Given the description of an element on the screen output the (x, y) to click on. 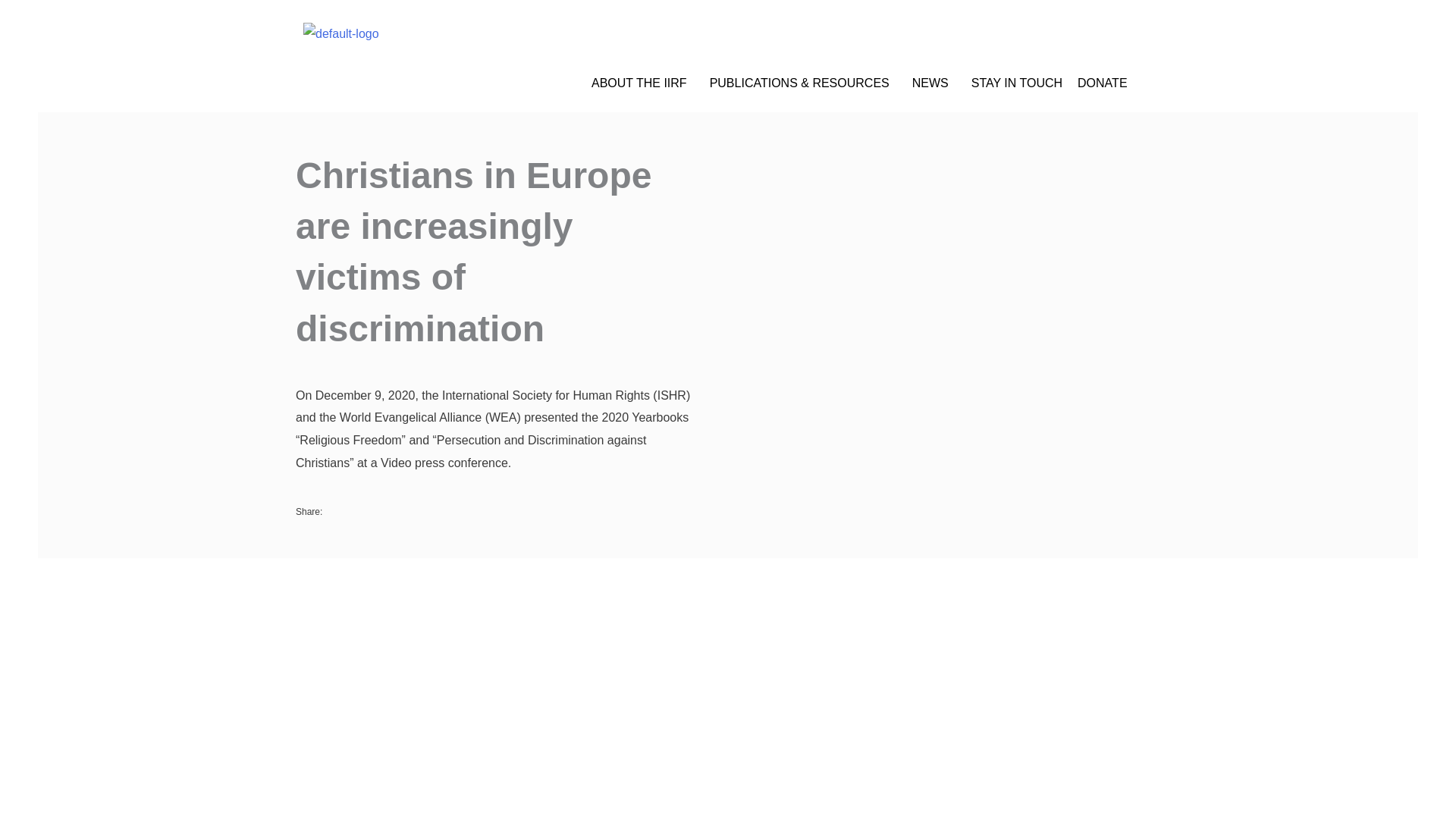
STAY IN TOUCH (1016, 82)
DONATE (1101, 82)
NEWS (934, 82)
ABOUT THE IIRF (642, 82)
